Given the description of an element on the screen output the (x, y) to click on. 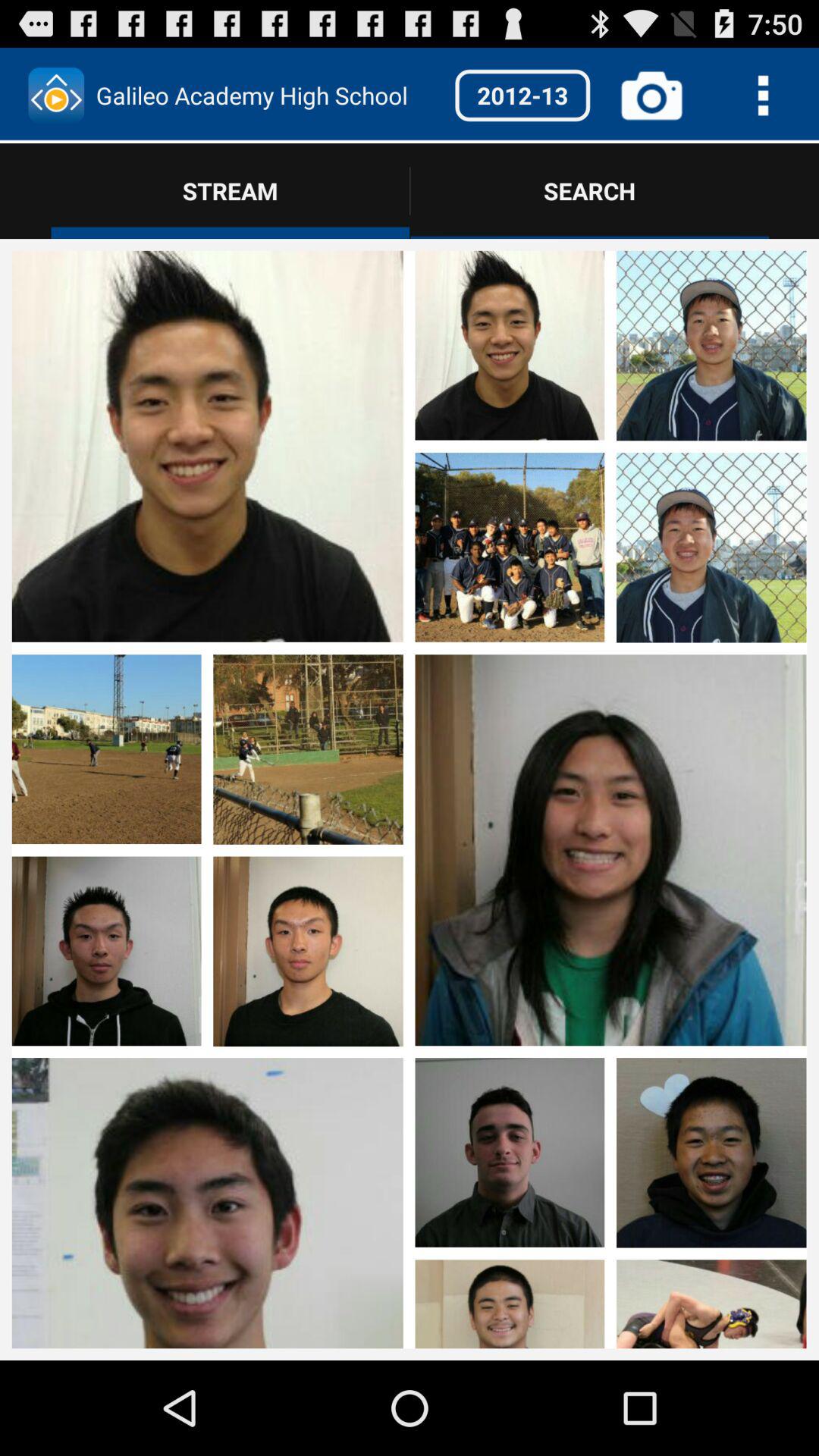
photos page (106, 1144)
